Given the description of an element on the screen output the (x, y) to click on. 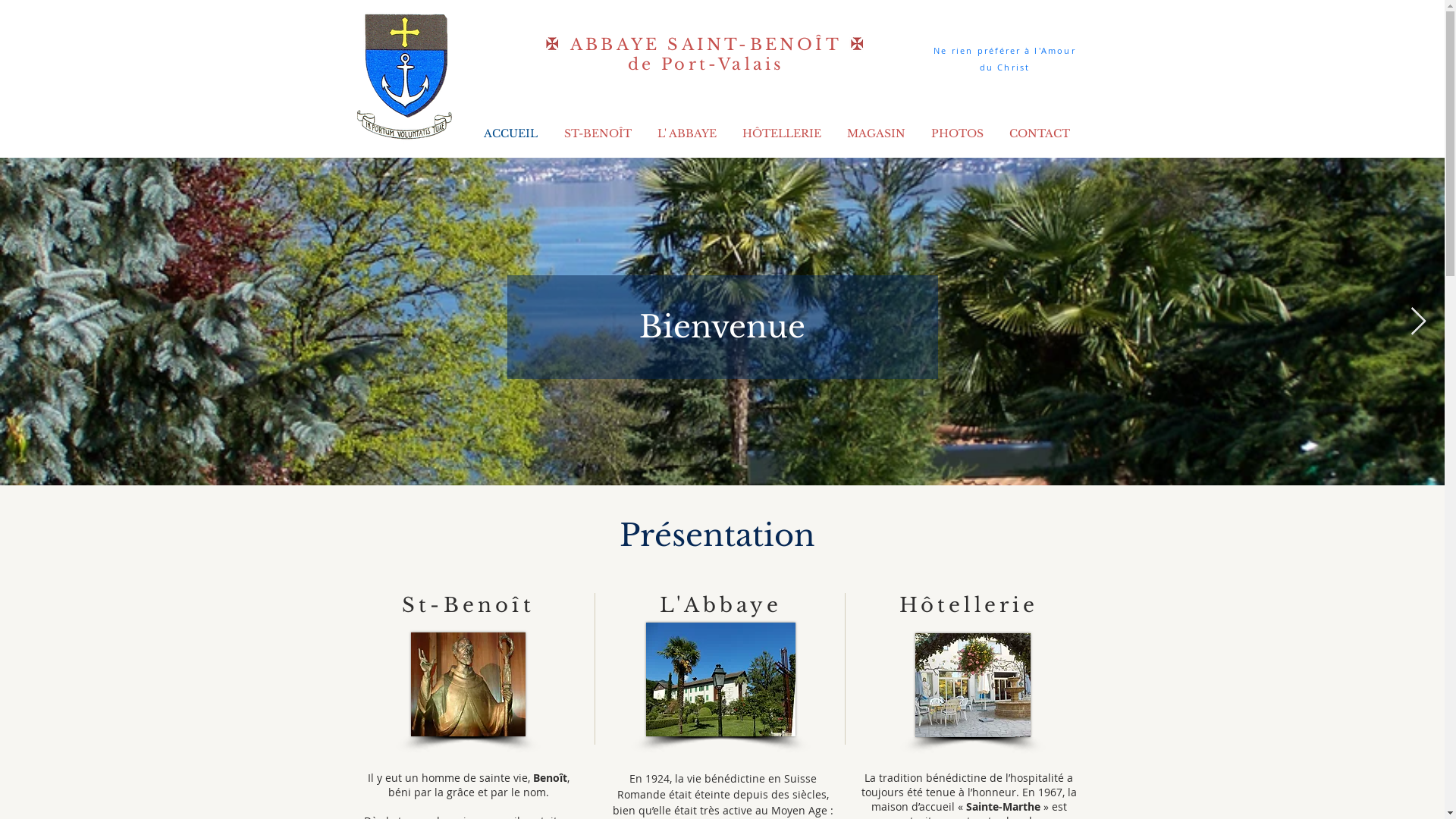
L' ABBAYE Element type: text (686, 133)
MAGASIN Element type: text (876, 133)
ACCUEIL Element type: text (510, 133)
CONTACT Element type: text (1039, 133)
PHOTOS Element type: text (956, 133)
